Given the description of an element on the screen output the (x, y) to click on. 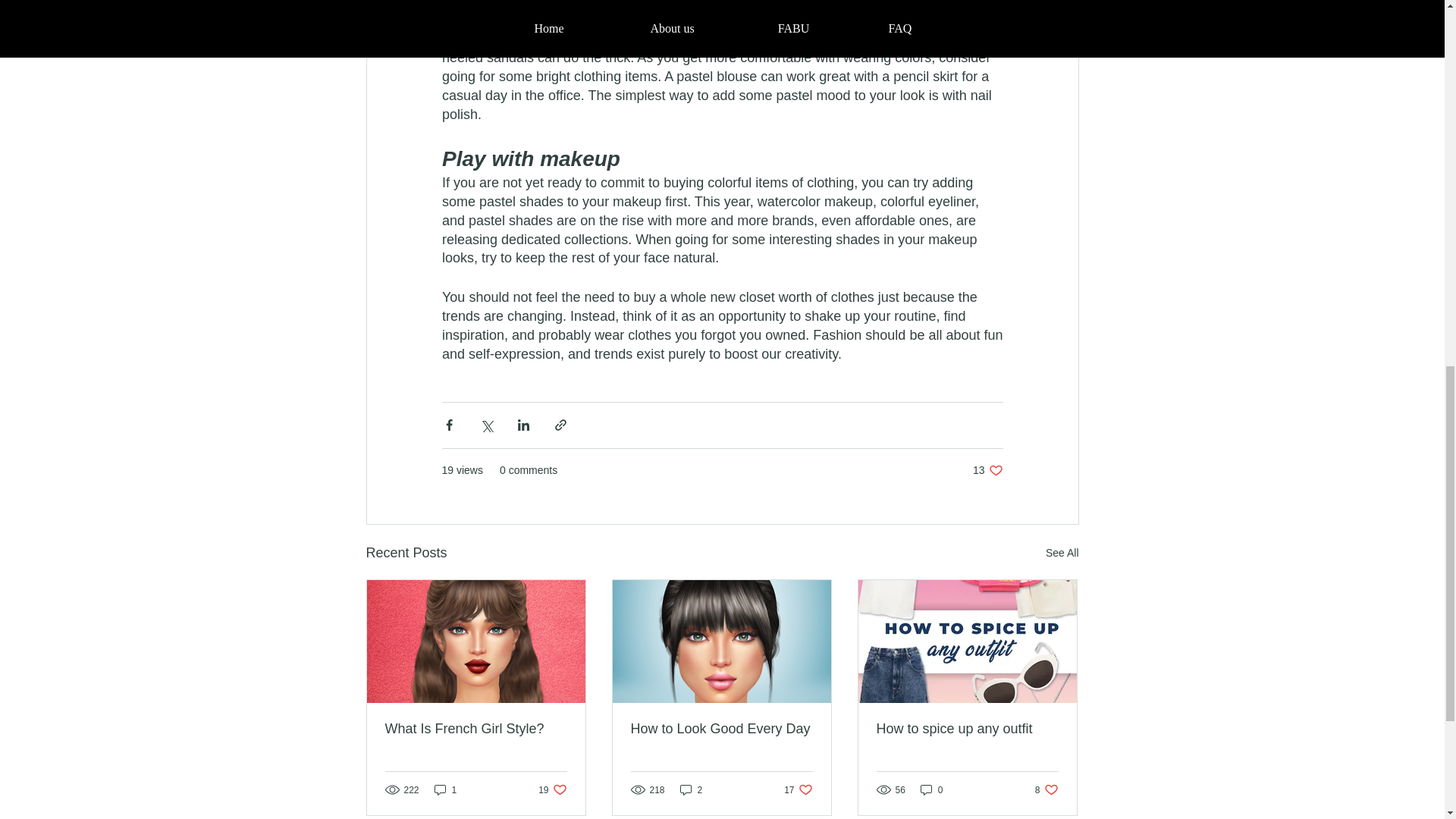
How to spice up any outfit (967, 729)
1 (445, 789)
0 (931, 789)
What Is French Girl Style? (987, 470)
See All (476, 729)
How to Look Good Every Day (1061, 553)
